Given the description of an element on the screen output the (x, y) to click on. 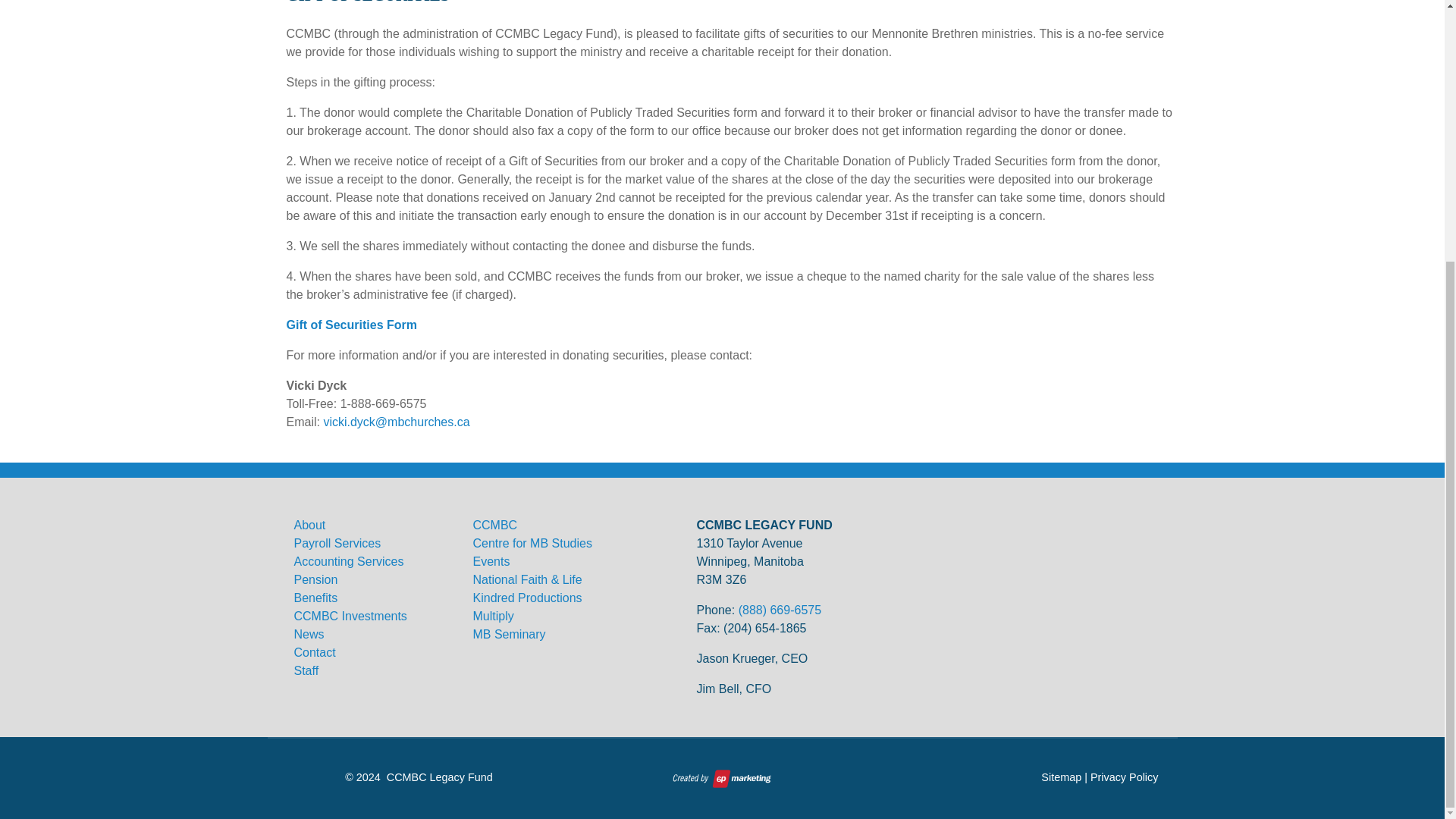
Benefits (315, 606)
Accounting Services (349, 561)
Gift of Securities Form (351, 324)
News (309, 634)
CCMBC Investments (350, 615)
Payroll Services (337, 543)
About (310, 524)
Pension (315, 579)
